Given the description of an element on the screen output the (x, y) to click on. 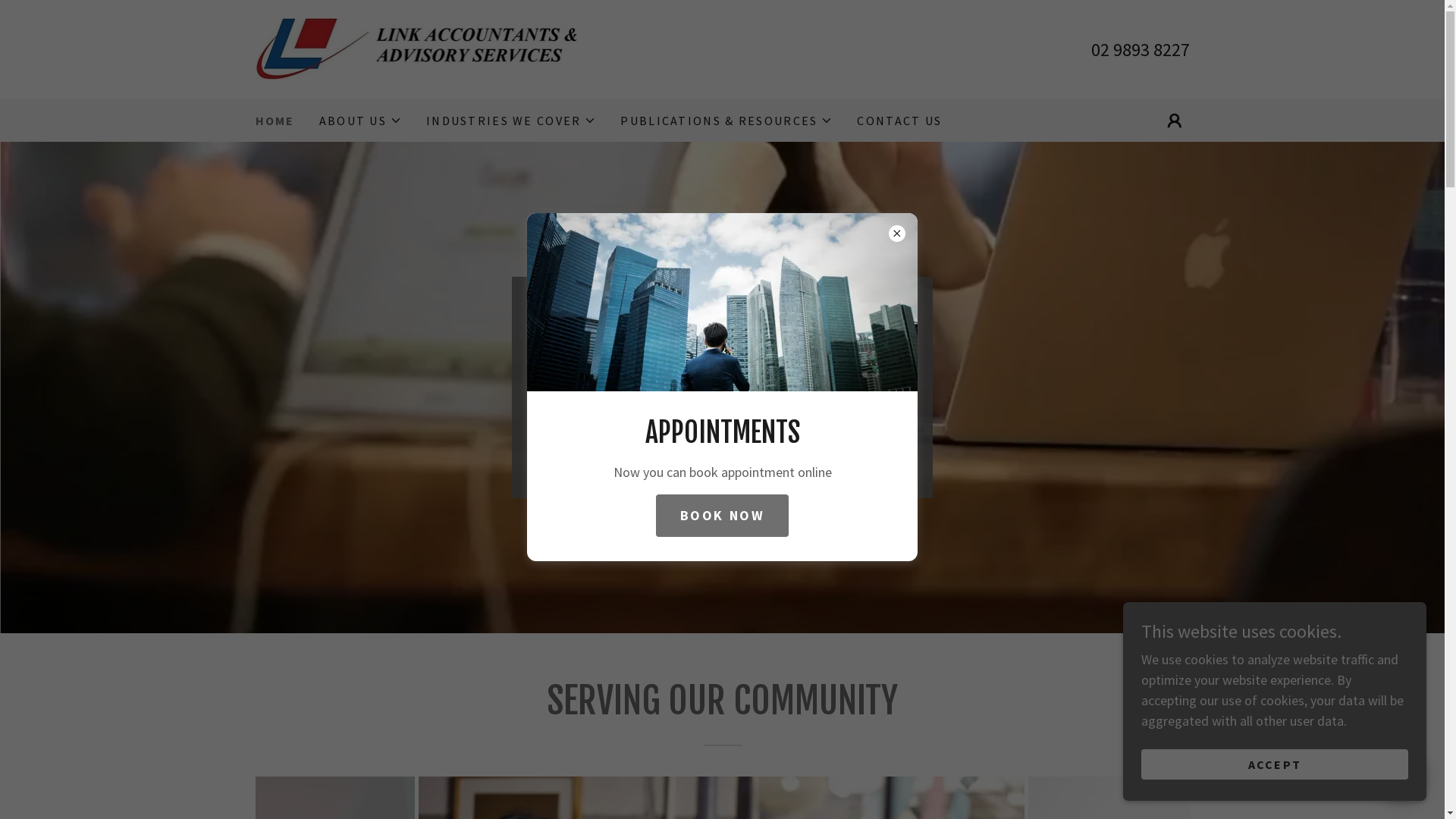
02 9893 8227 Element type: text (1139, 49)
PUBLICATIONS & RESOURCES Element type: text (726, 120)
BOOK NOW Element type: text (722, 515)
BOOK TODAY Element type: text (722, 458)
CONTACT US Element type: text (899, 120)
INDUSTRIES WE COVER Element type: text (511, 120)
ACCEPT Element type: text (1274, 764)
ABOUT US Element type: text (360, 120)
HOME Element type: text (274, 120)
LINK Accountants & Advisory Services Element type: hover (421, 47)
